Given the description of an element on the screen output the (x, y) to click on. 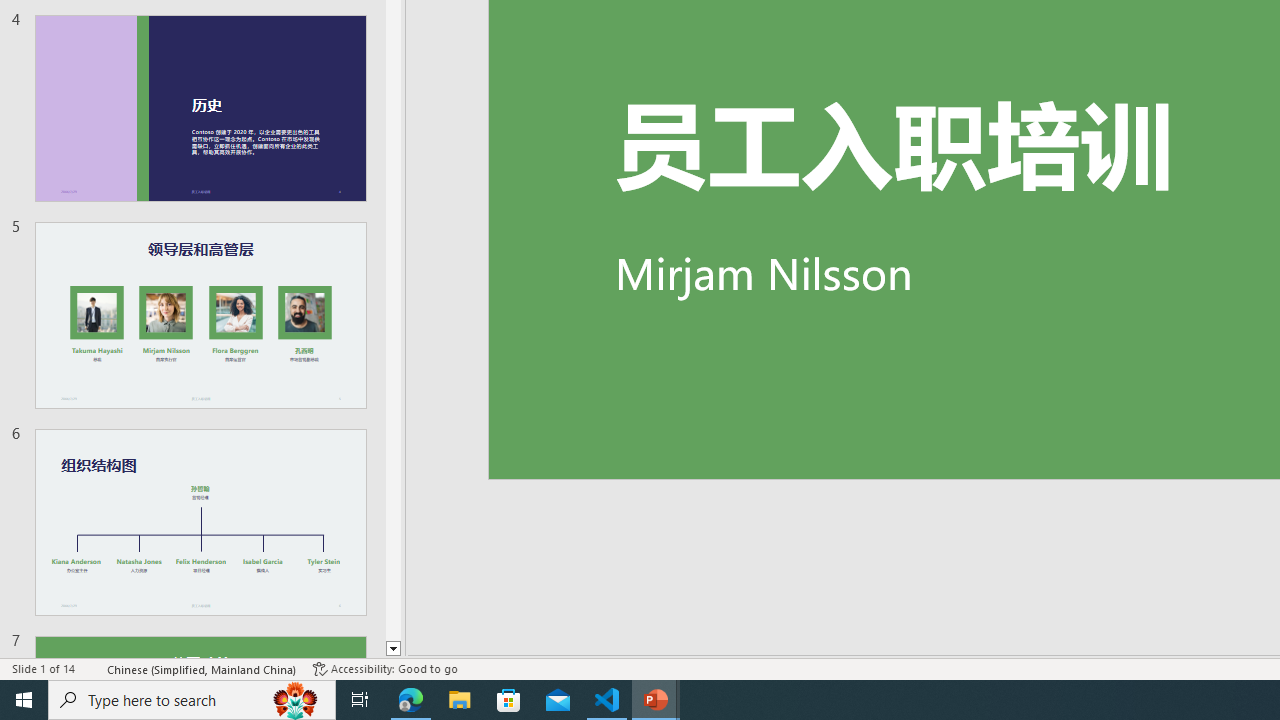
Spell Check  (92, 668)
Accessibility Checker Accessibility: Good to go (384, 668)
